Given the description of an element on the screen output the (x, y) to click on. 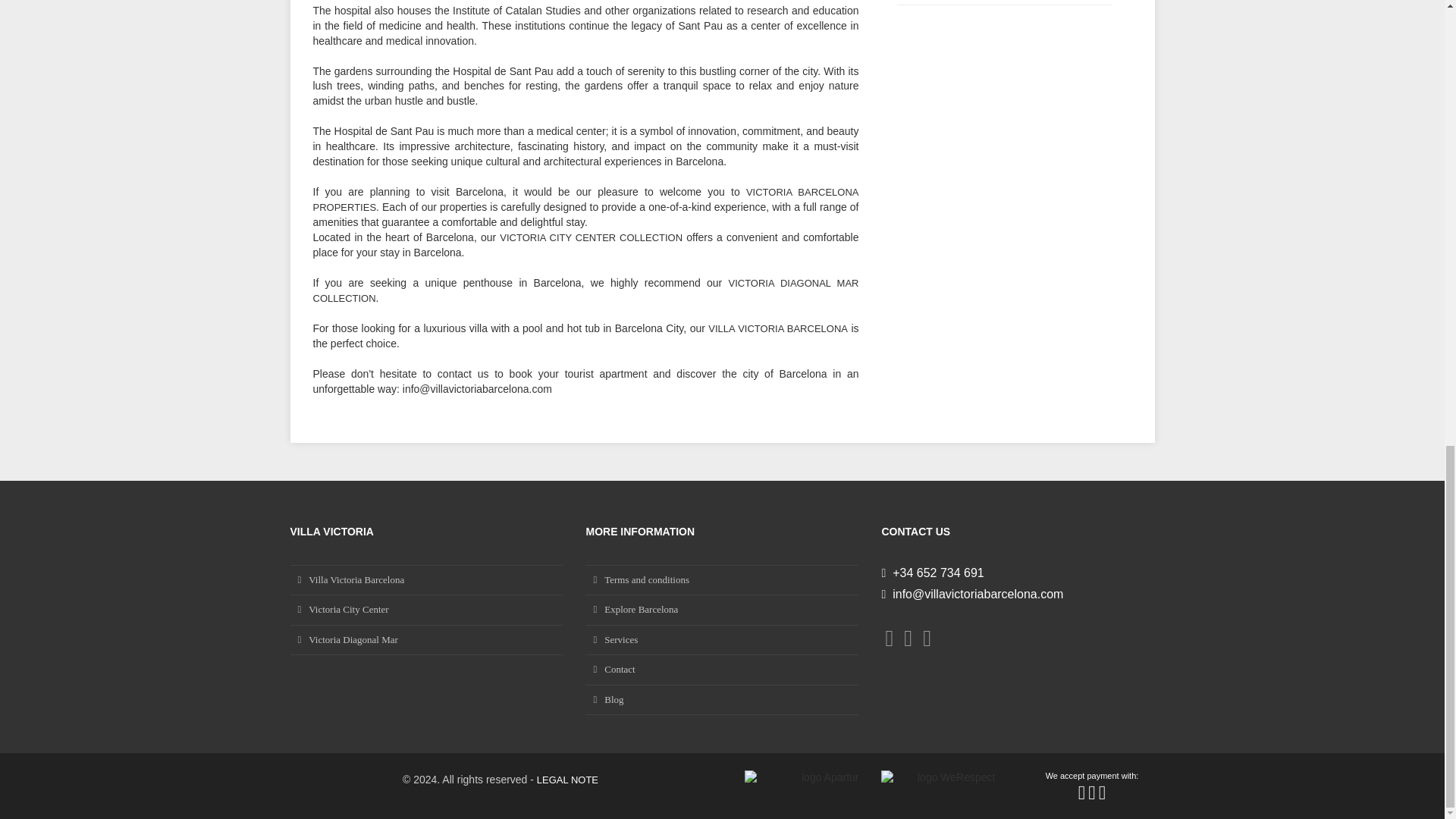
Terms and conditions (722, 580)
Victoria Diagonal Mar (425, 640)
VICTORIA DIAGONAL MAR COLLECTION (586, 290)
VILLA VICTORIA BARCELONA (777, 328)
Victoria City Center (425, 609)
Villa Victoria Barcelona (425, 580)
VICTORIA CITY CENTER COLLECTION (590, 237)
VICTORIA BARCELONA PROPERTIES (586, 199)
